Given the description of an element on the screen output the (x, y) to click on. 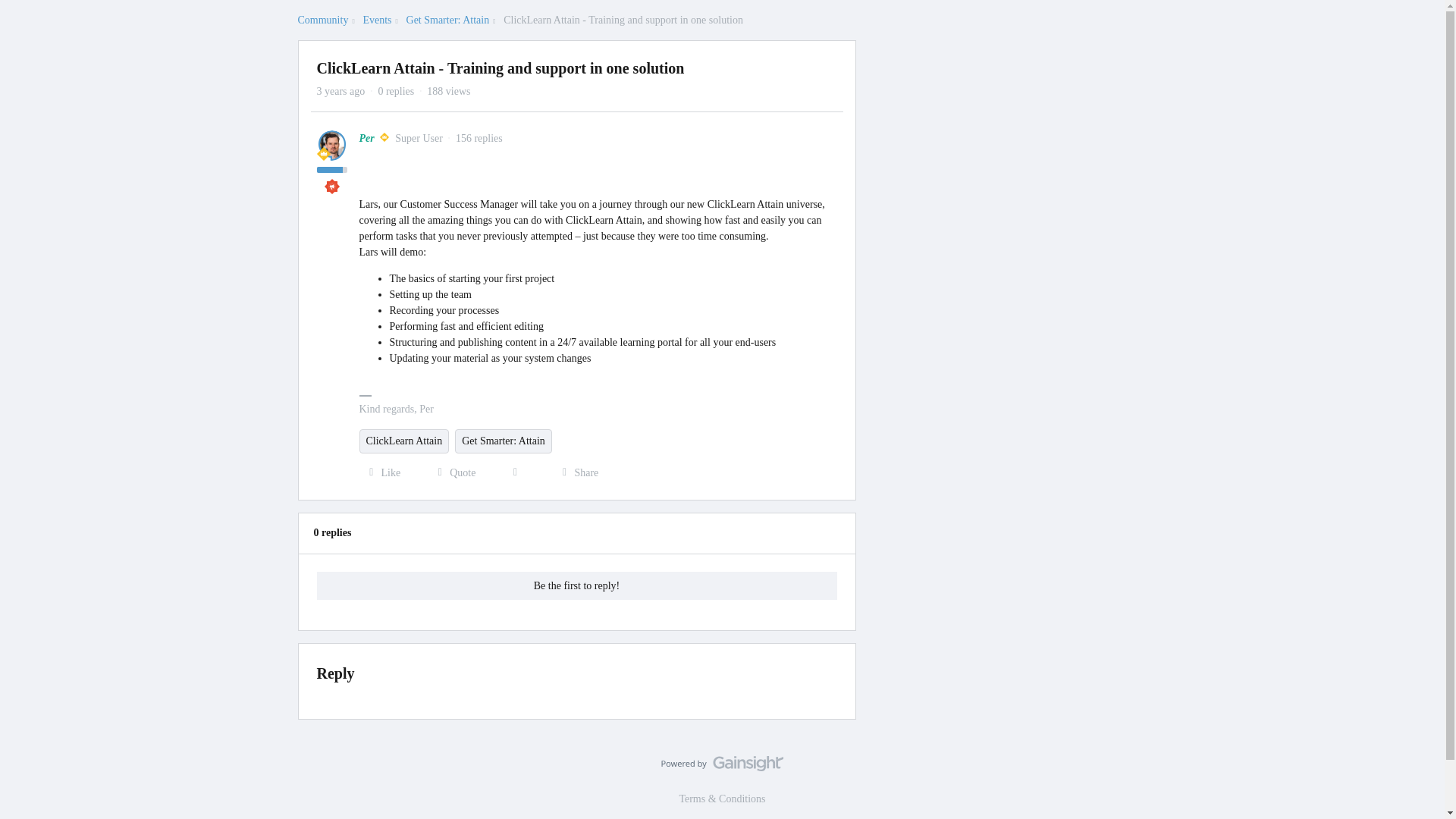
Quote (451, 473)
Visit Gainsight.com (722, 766)
Per (366, 138)
0 replies (395, 91)
Per (366, 138)
Get Smarter: Attain (447, 19)
Like (380, 473)
Events (376, 19)
Super User (323, 153)
Get Smarter: Attain (502, 441)
Community (322, 19)
Talk Master (331, 186)
ClickLearn Attain (404, 441)
